Given the description of an element on the screen output the (x, y) to click on. 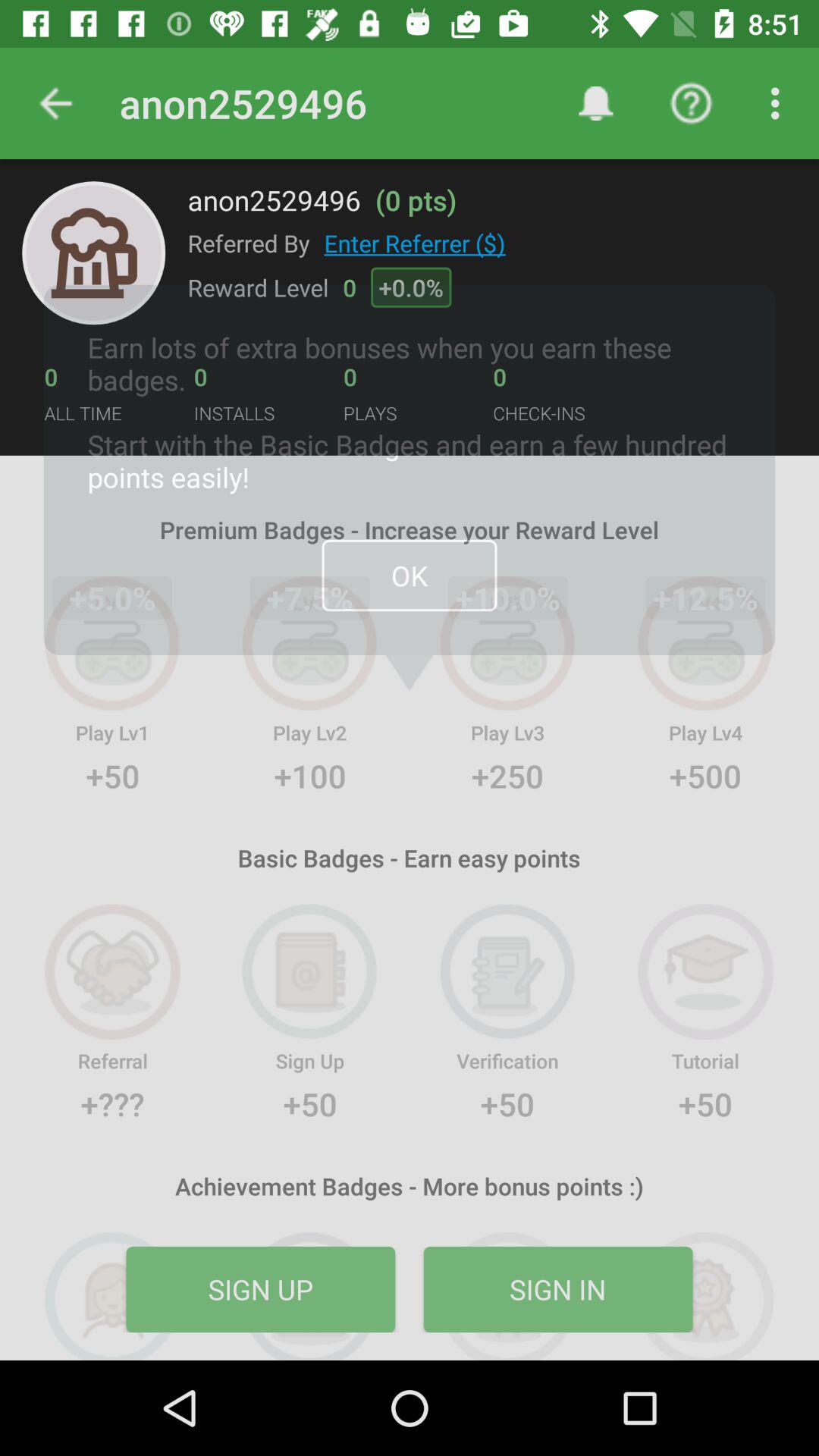
add profile picture (93, 252)
